Given the description of an element on the screen output the (x, y) to click on. 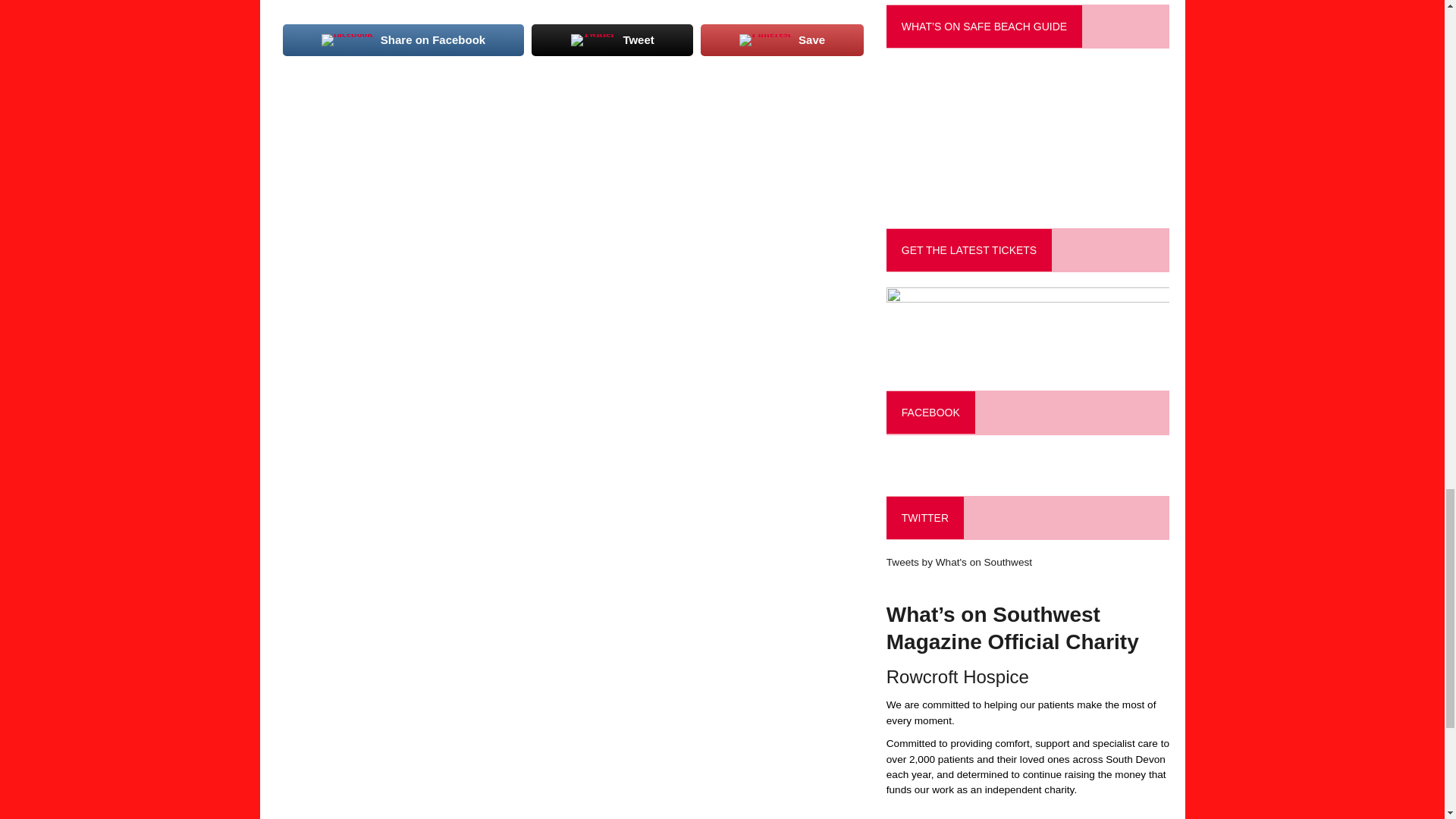
Tweet (612, 39)
Tweets by What's on Southwest (959, 562)
Save (781, 39)
Share on Facebook (403, 39)
